Given the description of an element on the screen output the (x, y) to click on. 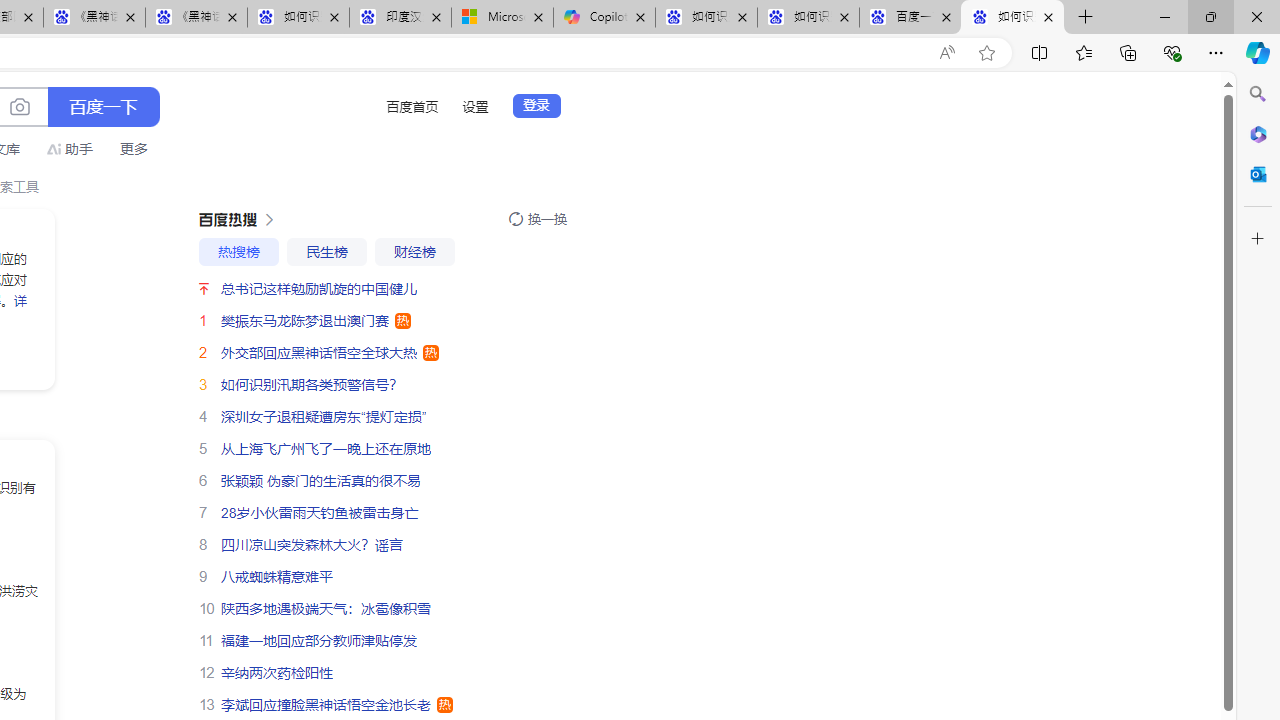
Copilot (604, 17)
